Given the description of an element on the screen output the (x, y) to click on. 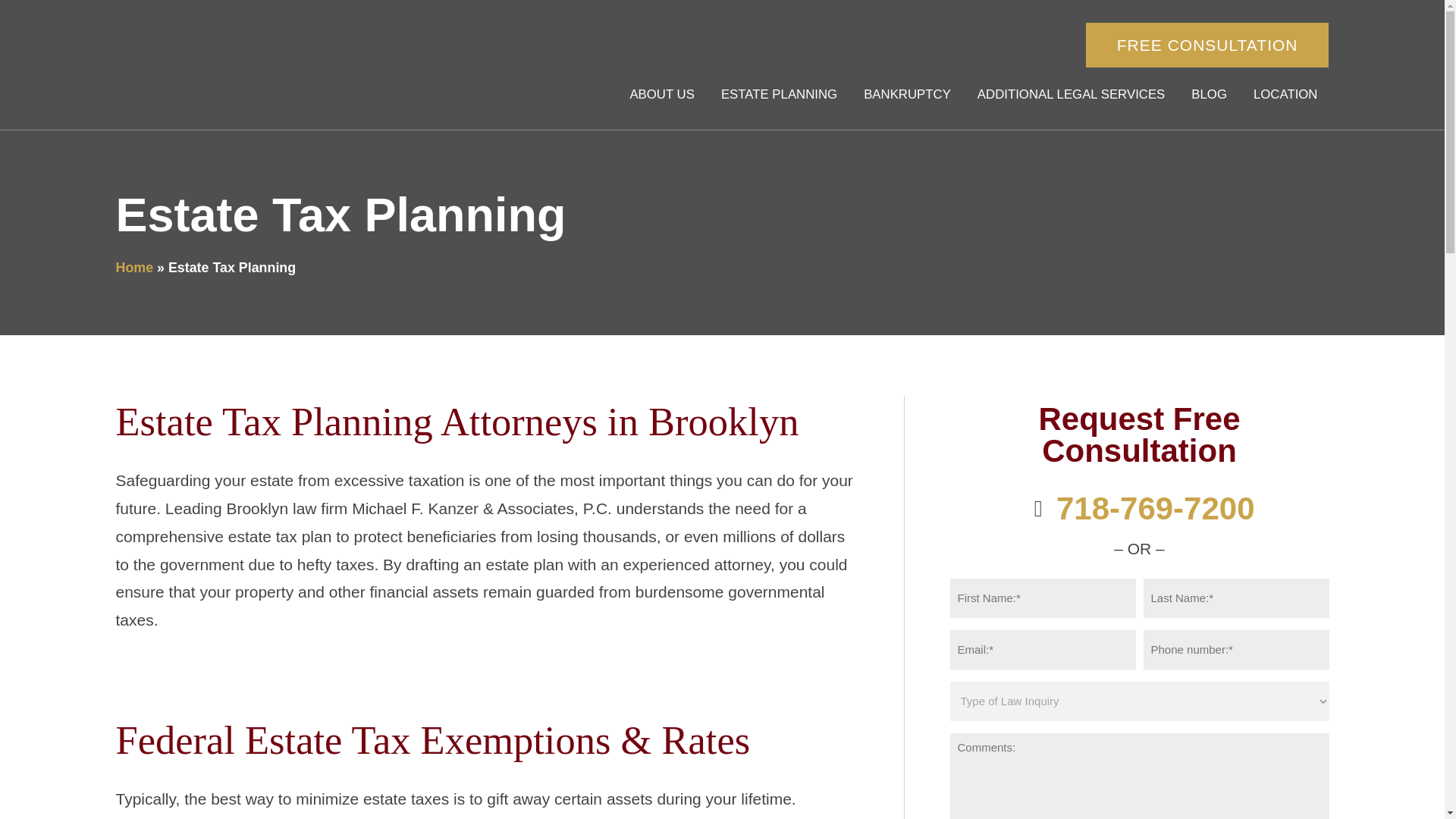
ESTATE PLANNING (779, 94)
BLOG (1209, 94)
BANKRUPTCY (906, 94)
LOCATION (1285, 94)
ABOUT US (660, 94)
FREE CONSULTATION (1207, 44)
ADDITIONAL LEGAL SERVICES (1071, 94)
